Given the description of an element on the screen output the (x, y) to click on. 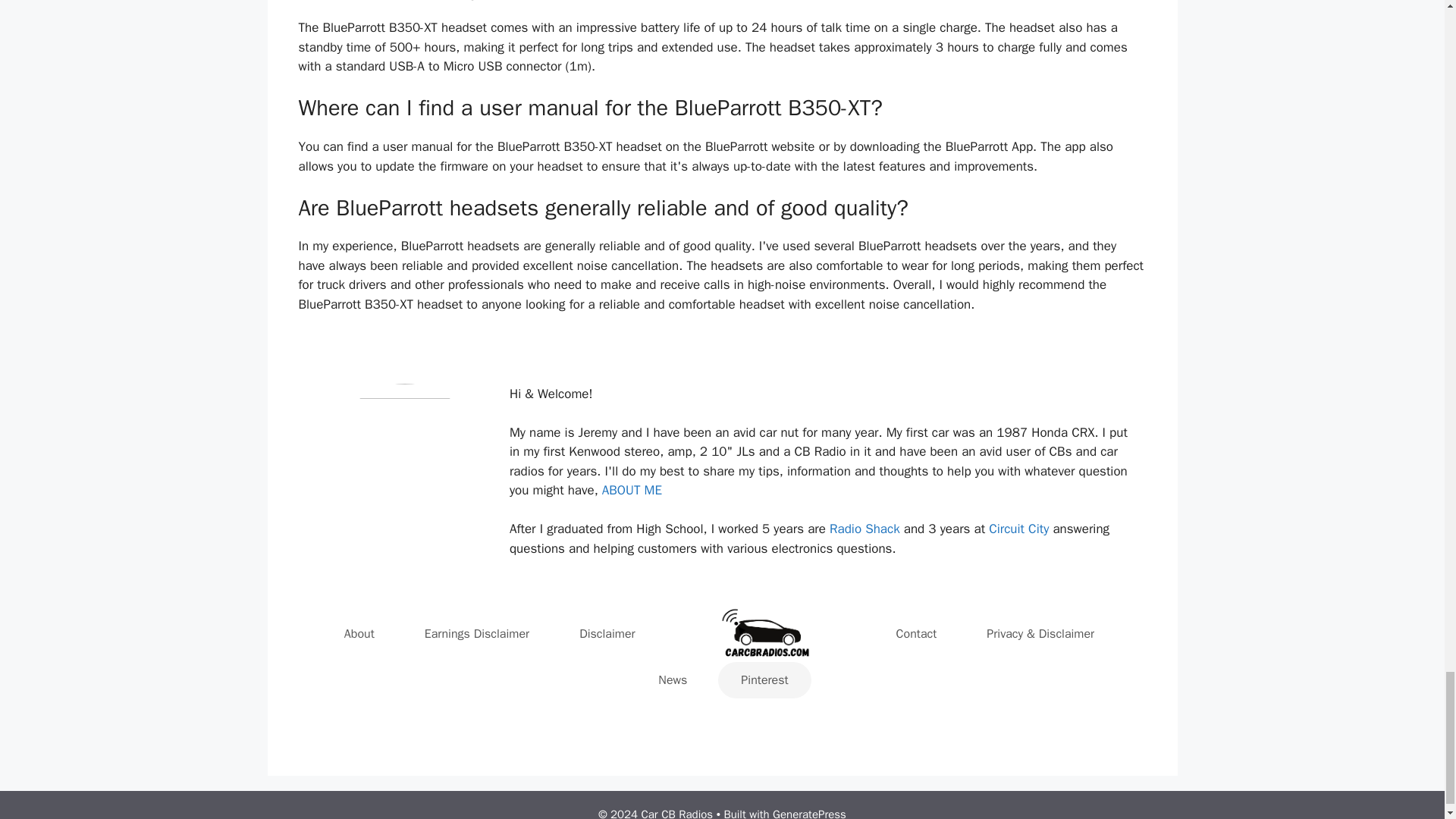
News (672, 679)
Contact (916, 633)
GeneratePress (809, 813)
About (358, 633)
Disclaimer (606, 633)
Circuit City (1018, 528)
Radio Shack (866, 528)
Earnings Disclaimer (477, 633)
ABOUT ME (632, 489)
Pinterest (764, 680)
